Given the description of an element on the screen output the (x, y) to click on. 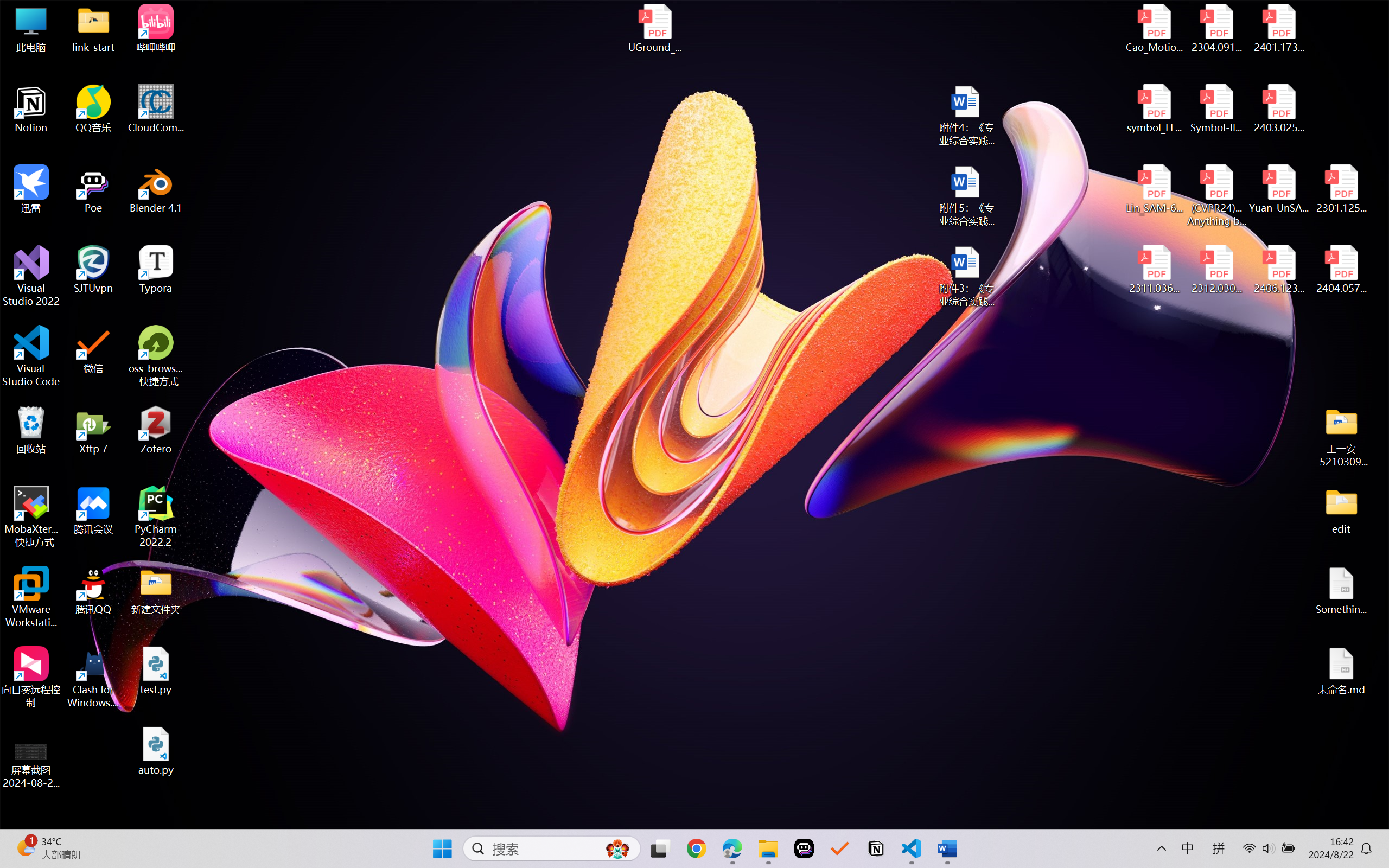
test.py (156, 670)
2404.05719v1.pdf (1340, 269)
VMware Workstation Pro (31, 597)
symbol_LLM.pdf (1154, 109)
edit (1340, 510)
